Given the description of an element on the screen output the (x, y) to click on. 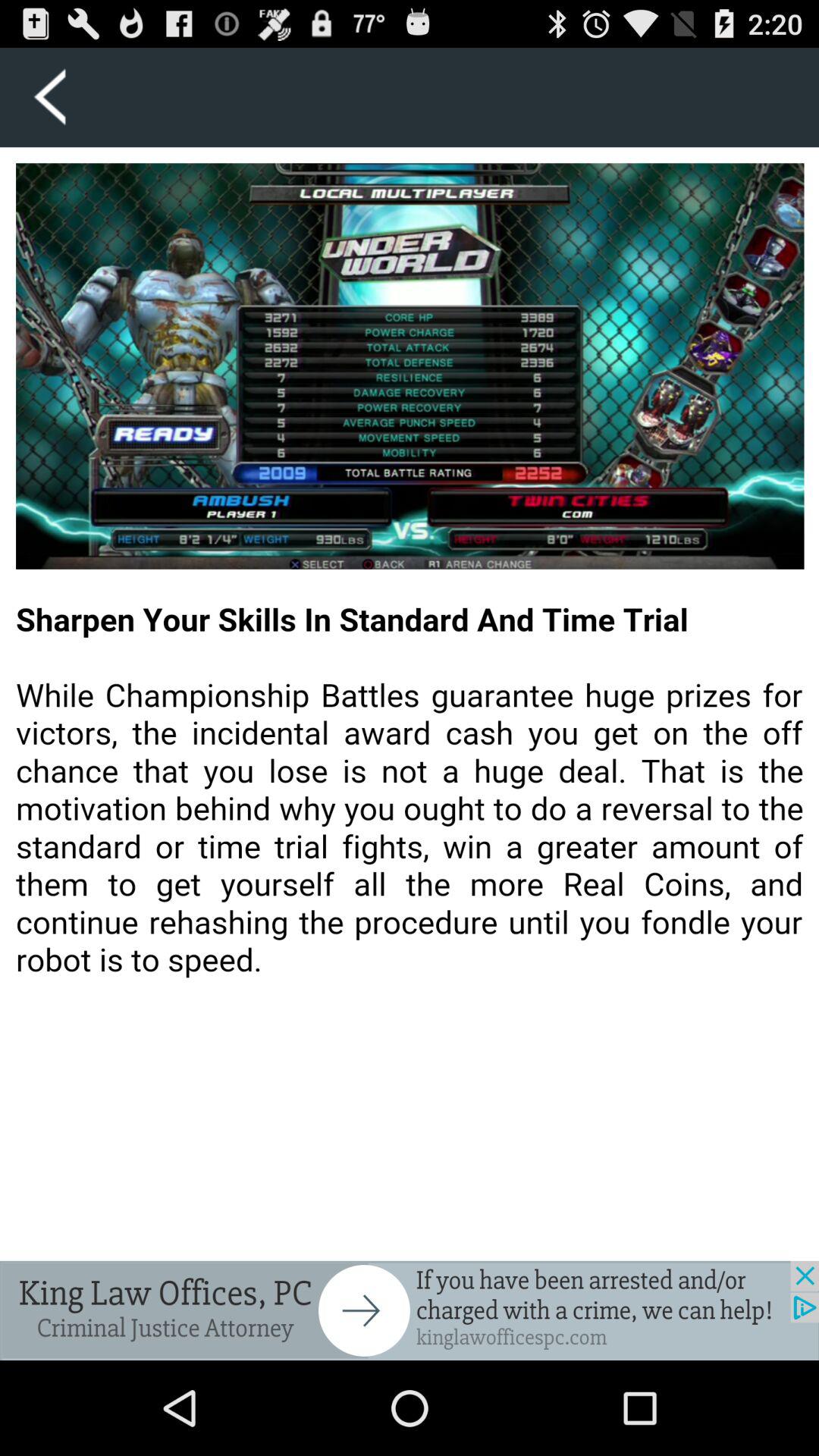
go to back (409, 1310)
